Given the description of an element on the screen output the (x, y) to click on. 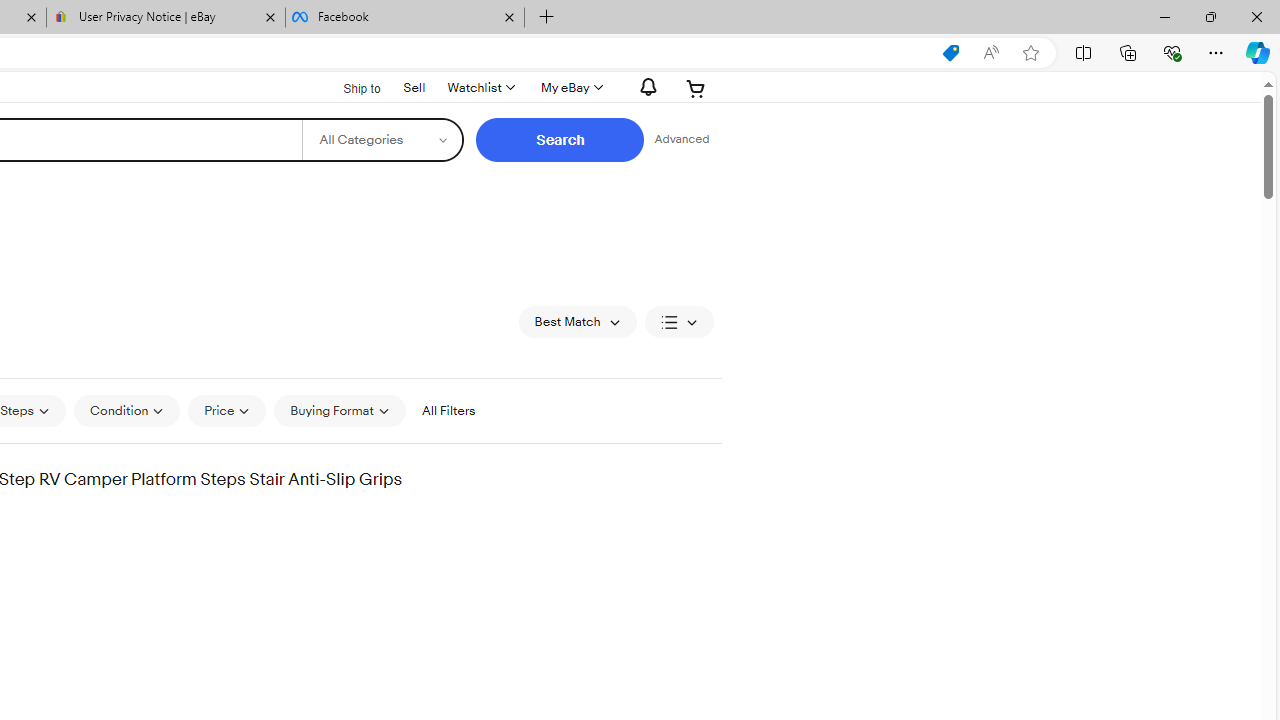
WatchlistExpand Watch List (479, 88)
Ship to (349, 89)
Condition (126, 410)
Collections (1128, 52)
Close (1256, 16)
Copilot (Ctrl+Shift+.) (1258, 52)
Price (227, 410)
Advanced Search (681, 139)
Sort: Best Match (577, 321)
Buying Format (339, 410)
